Given the description of an element on the screen output the (x, y) to click on. 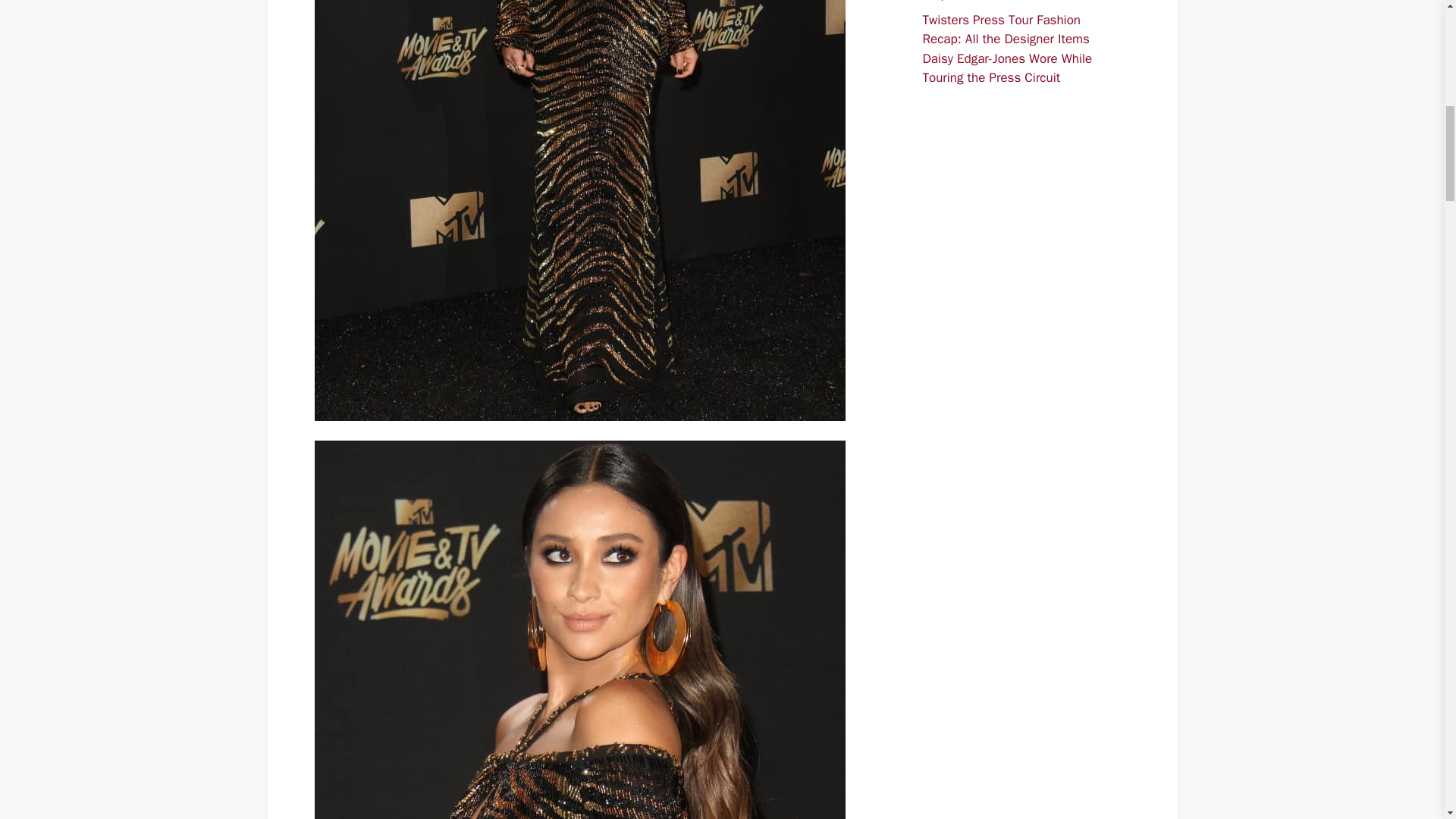
Scroll back to top (1406, 720)
